Given the description of an element on the screen output the (x, y) to click on. 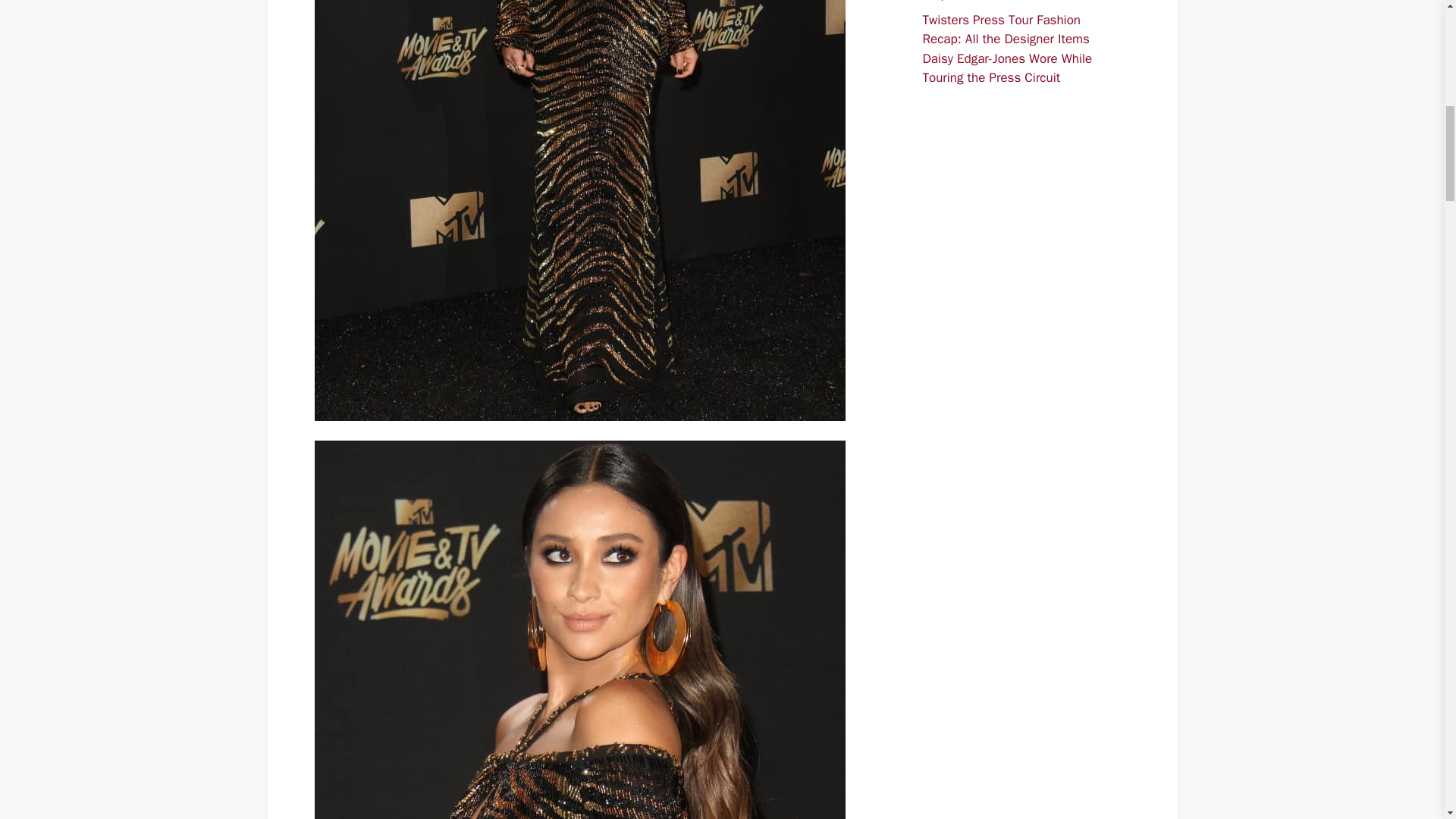
Scroll back to top (1406, 720)
